Given the description of an element on the screen output the (x, y) to click on. 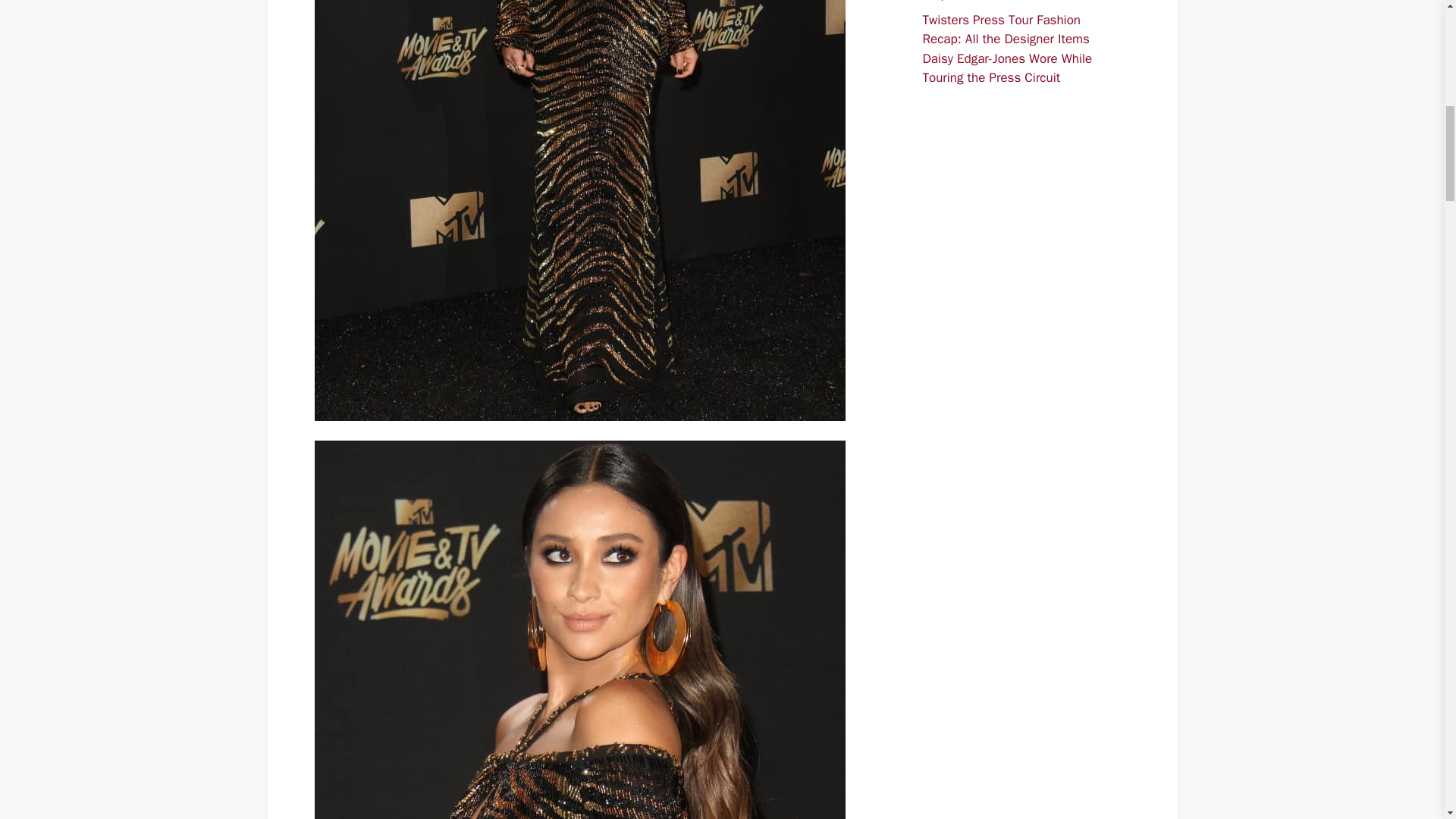
Scroll back to top (1406, 720)
